Given the description of an element on the screen output the (x, y) to click on. 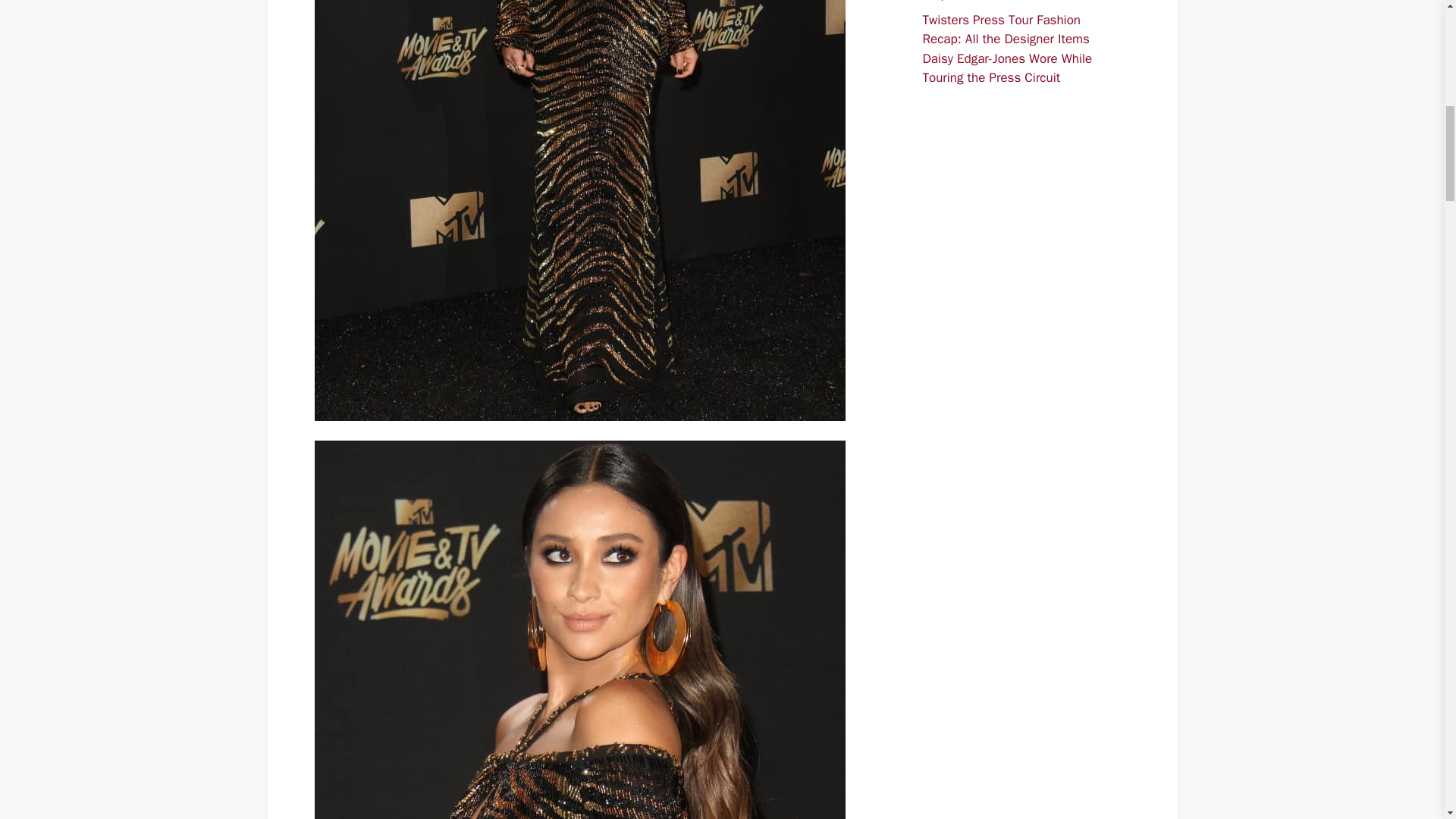
Scroll back to top (1406, 720)
